Given the description of an element on the screen output the (x, y) to click on. 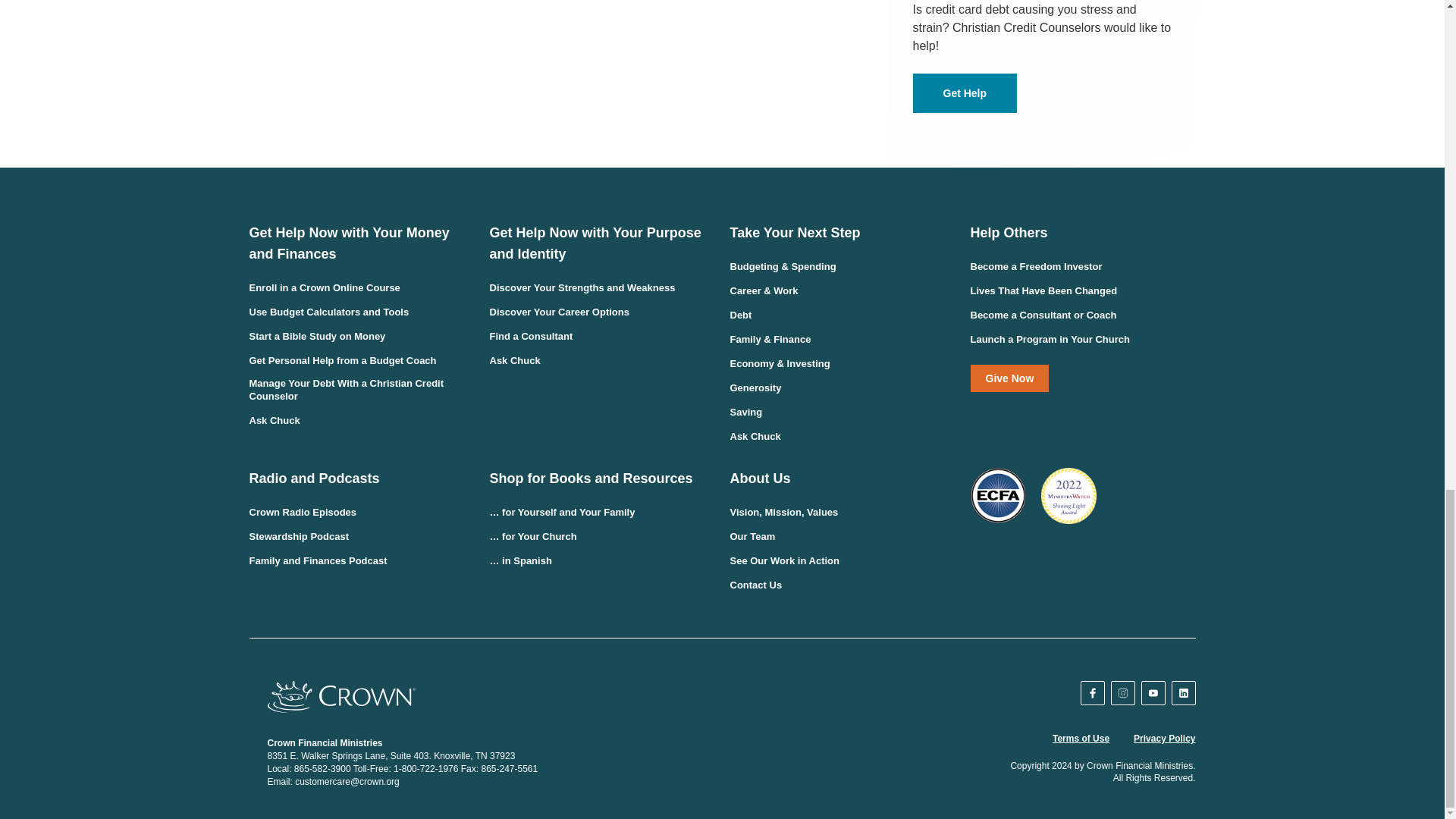
Ministry Watch Shining Award 2022 (1068, 495)
Icon Youtube (1153, 692)
Icon Facebook F (1092, 692)
Icon Linkedin (1183, 692)
Crown Logo 2021 H White 2023 (340, 695)
Icon Instagram (1123, 692)
Ecfa Logo (998, 495)
